Given the description of an element on the screen output the (x, y) to click on. 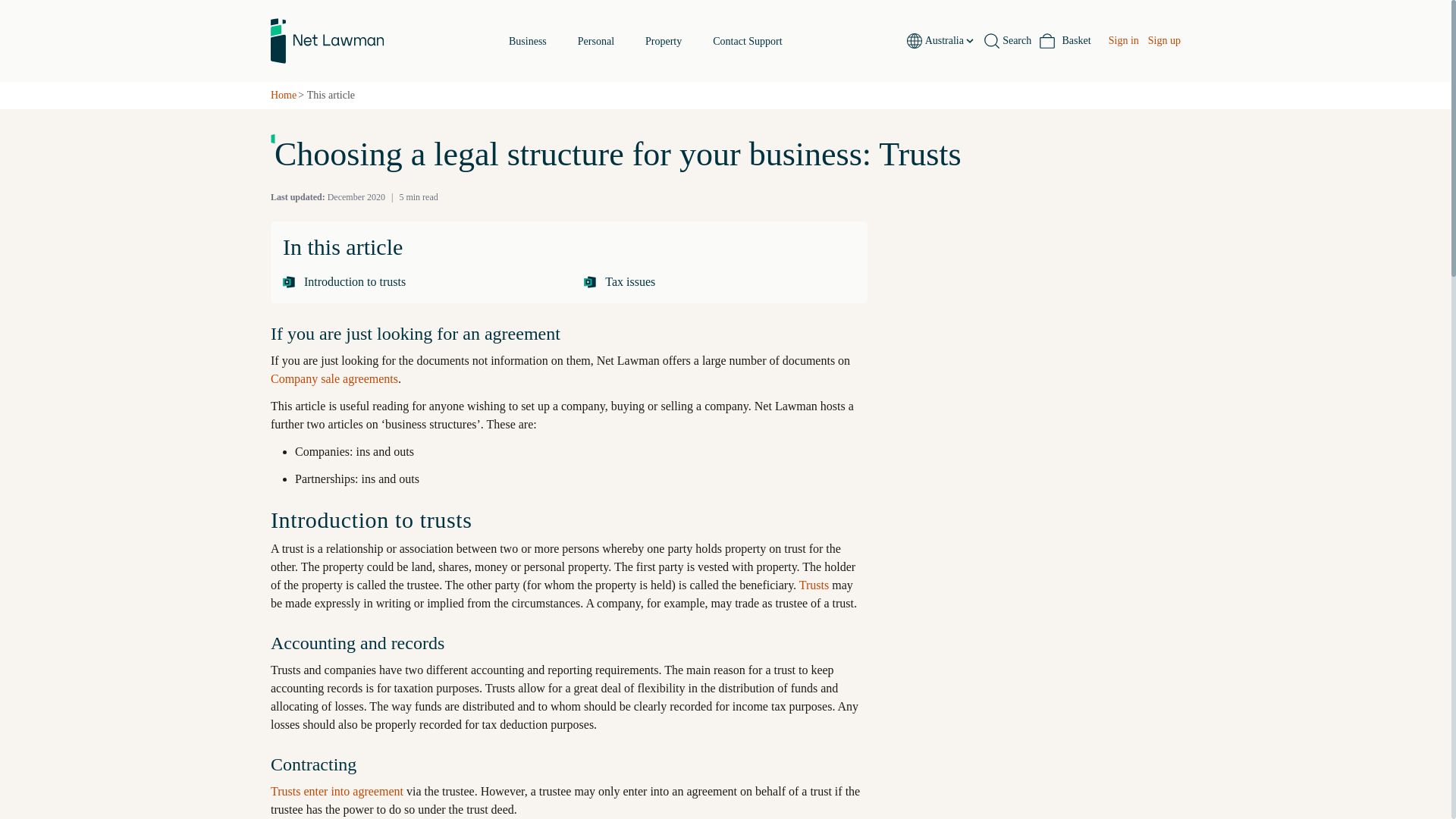
Home (283, 95)
Search (1007, 40)
Basket (1064, 40)
Sign in (1123, 40)
Personal (596, 41)
Sign up (645, 40)
Introduction to trusts (1164, 40)
Contact Support (417, 281)
Company sale agreements (747, 41)
Australia (333, 378)
Tax issues (949, 40)
Property (718, 281)
Business (663, 41)
Trusts enter into agreement (527, 41)
